Given the description of an element on the screen output the (x, y) to click on. 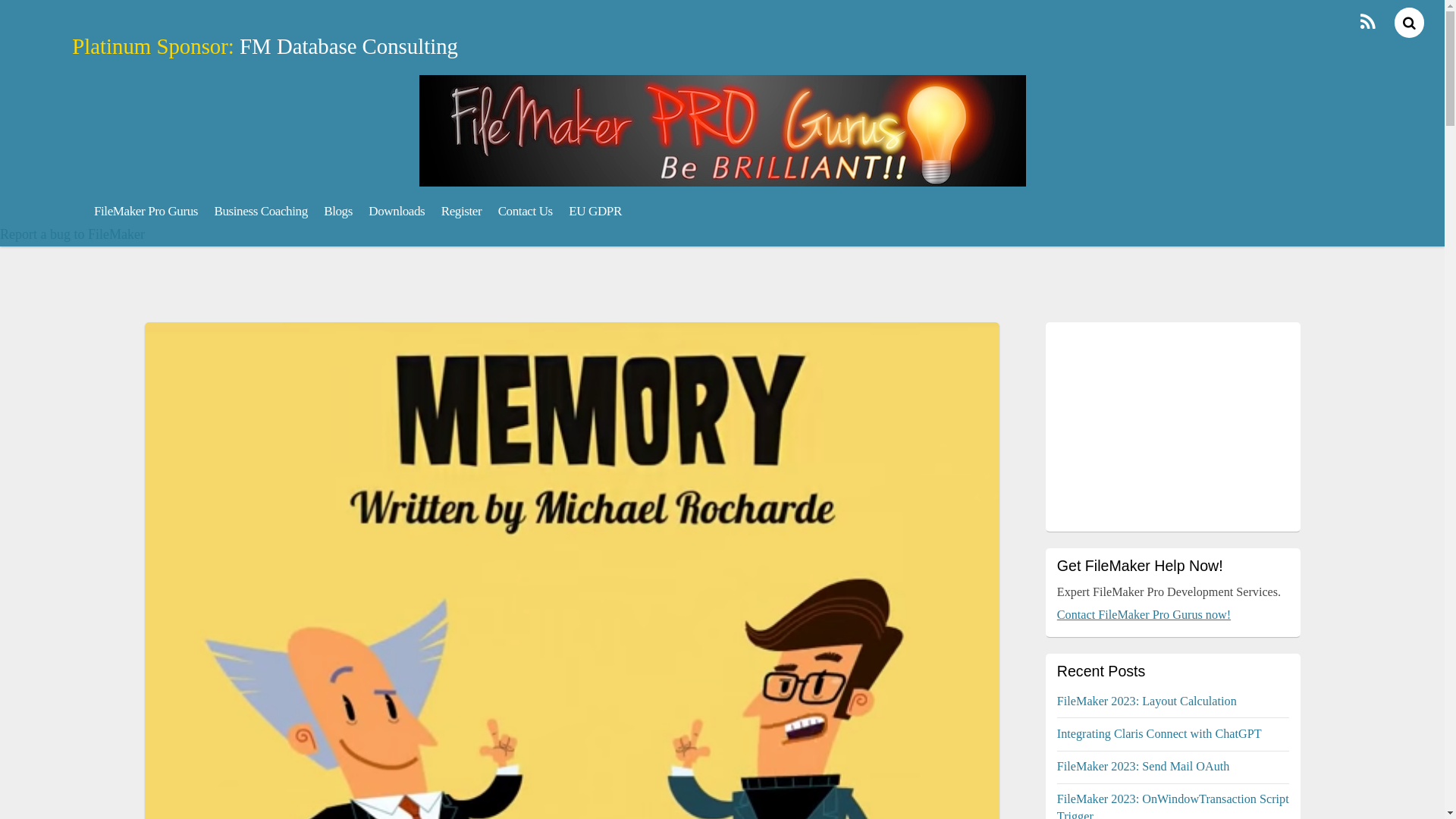
Register (460, 211)
FileMaker 2023: Send Mail OAuth (1143, 766)
FM Database Consulting (349, 46)
Report a bug to FileMaker (72, 233)
Contact Us (524, 211)
Integrating Claris Connect with ChatGPT (1159, 734)
Advertisement (1172, 426)
Blogs (337, 211)
Contact FileMaker Pro Gurus now! (1143, 614)
